Given the description of an element on the screen output the (x, y) to click on. 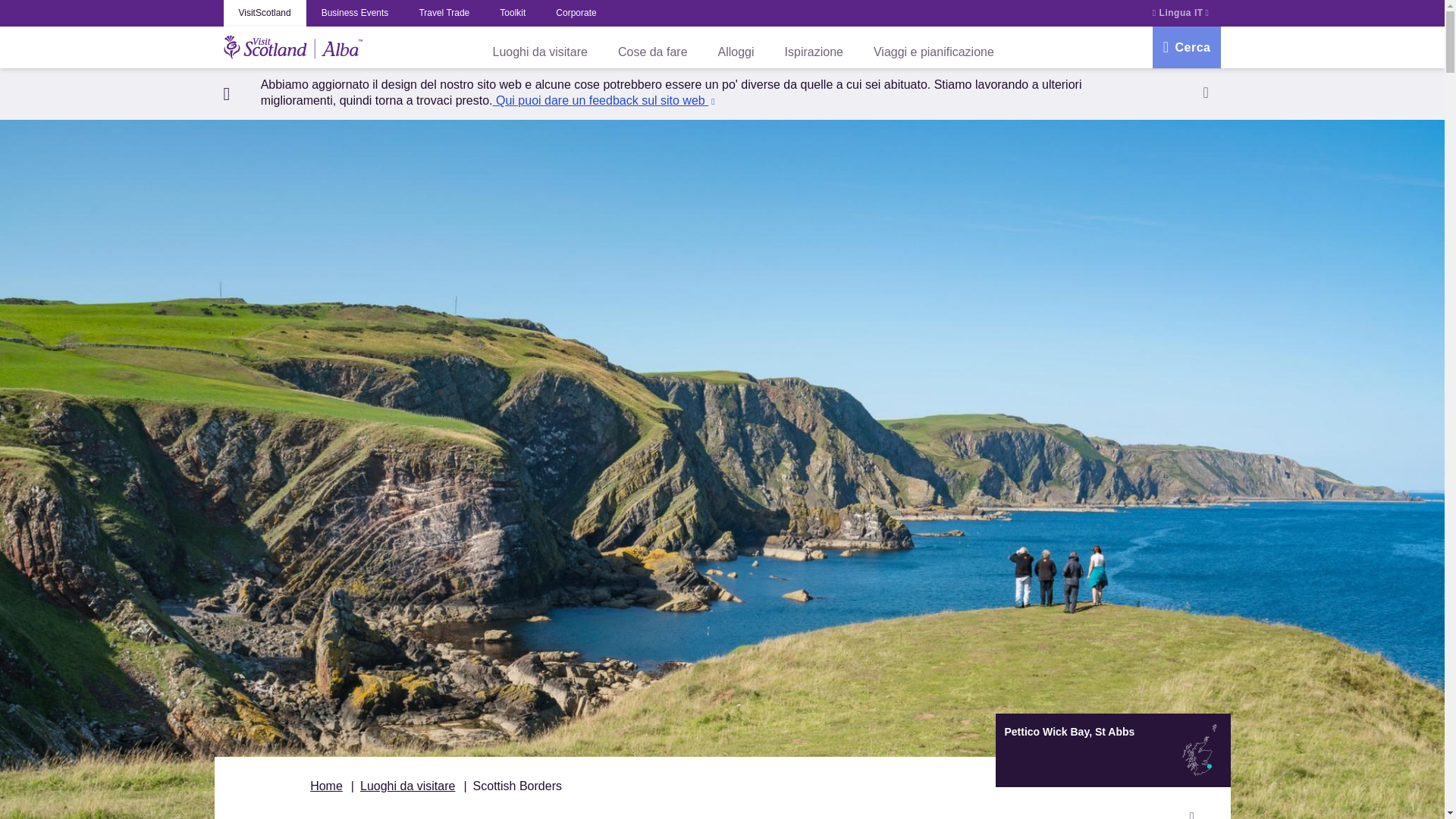
Home (326, 785)
Corporate (575, 13)
Luoghi da visitare (540, 51)
VisitScotland (263, 13)
Travel Trade (443, 13)
Cose da fare (652, 51)
Pagina Iniziale di VisitScotland (292, 47)
Viaggi e pianificazione (933, 51)
Business Events (354, 13)
Condividi (1192, 812)
Luoghi da visitare (406, 785)
Qui puoi dare un feedback sul sito web (603, 100)
Chiudi (1206, 91)
Toolkit (512, 13)
Ispirazione (813, 51)
